Given the description of an element on the screen output the (x, y) to click on. 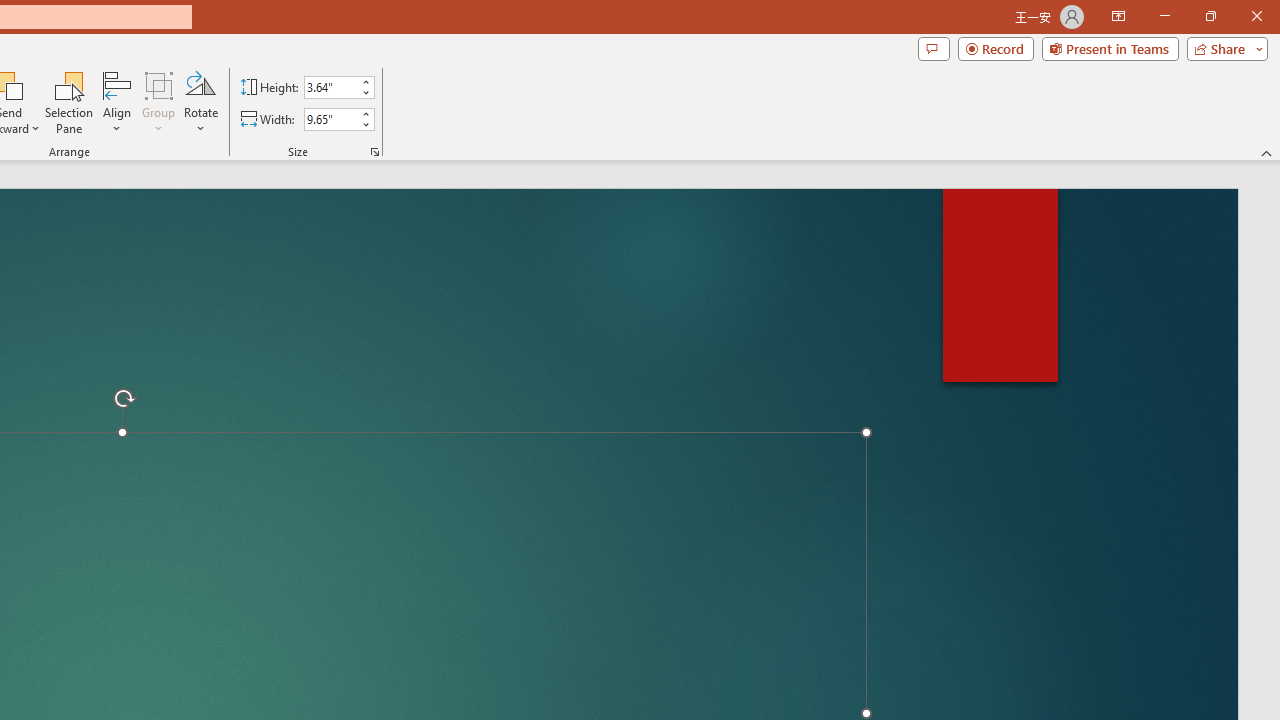
Size and Position... (374, 151)
Rotate (200, 102)
